Given the description of an element on the screen output the (x, y) to click on. 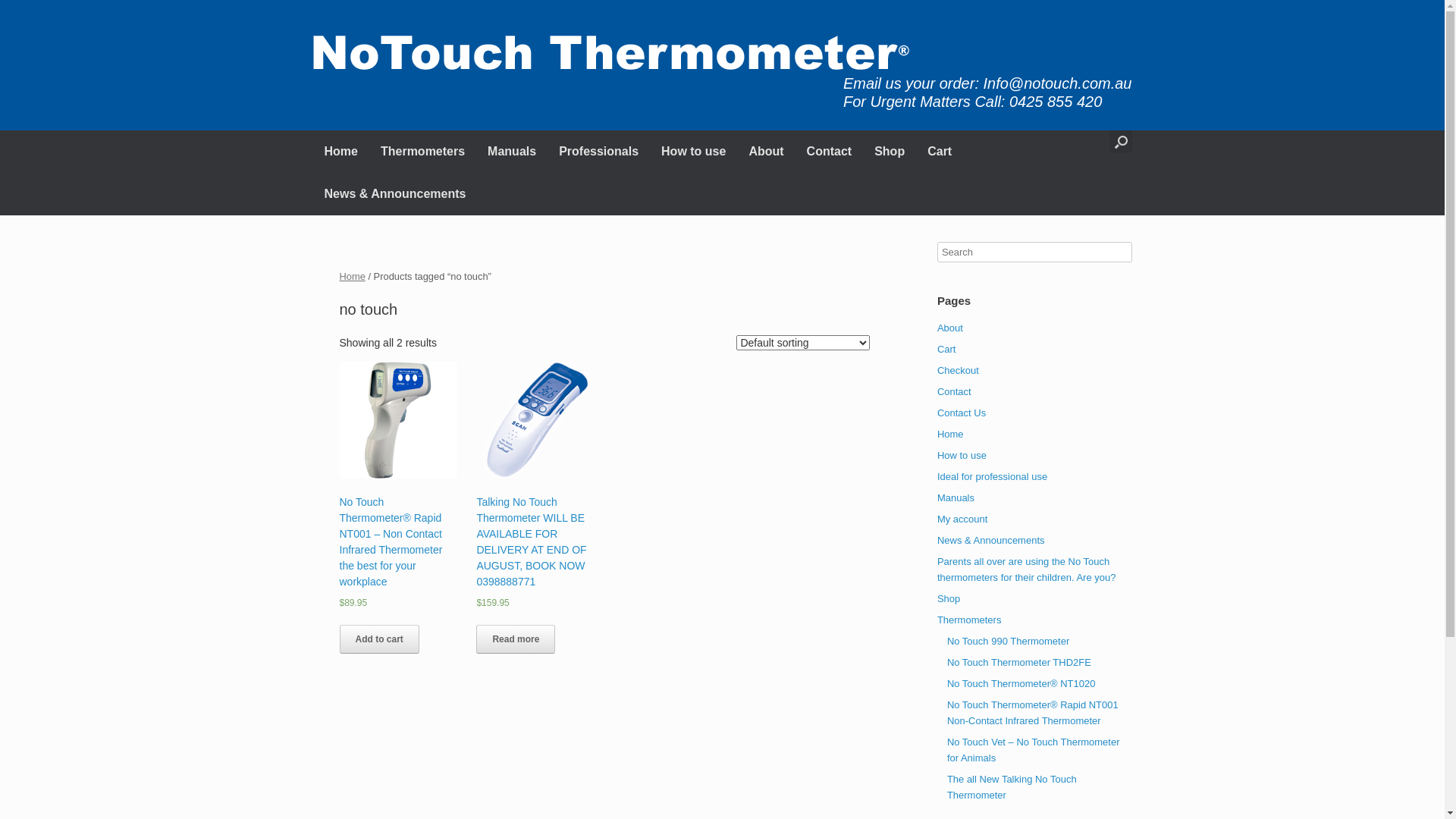
Ideal for professional use Element type: text (992, 476)
Shop Element type: text (889, 151)
Manuals Element type: text (955, 497)
My account Element type: text (962, 518)
No Touch Thermometer THD2FE Element type: text (1019, 662)
Home Element type: text (950, 433)
Contact Element type: text (829, 151)
Home Element type: text (352, 276)
The all New Talking No Touch Thermometer Element type: text (1011, 786)
Contact Element type: text (954, 391)
Cart Element type: text (939, 151)
How to use Element type: text (693, 151)
How to use Element type: text (961, 455)
Professionals Element type: text (598, 151)
Manuals Element type: text (511, 151)
Add to cart Element type: text (379, 638)
No Touch 990 Thermometer Element type: text (1008, 640)
Read more Element type: text (515, 638)
Shop Element type: text (948, 598)
About Element type: text (765, 151)
About Element type: text (950, 327)
Contact Us Element type: text (961, 412)
Cart Element type: text (946, 348)
News & Announcements Element type: text (990, 540)
Thermometers Element type: text (422, 151)
Home Element type: text (340, 151)
Checkout Element type: text (958, 370)
News & Announcements Element type: text (394, 193)
Thermometers Element type: text (969, 619)
